Given the description of an element on the screen output the (x, y) to click on. 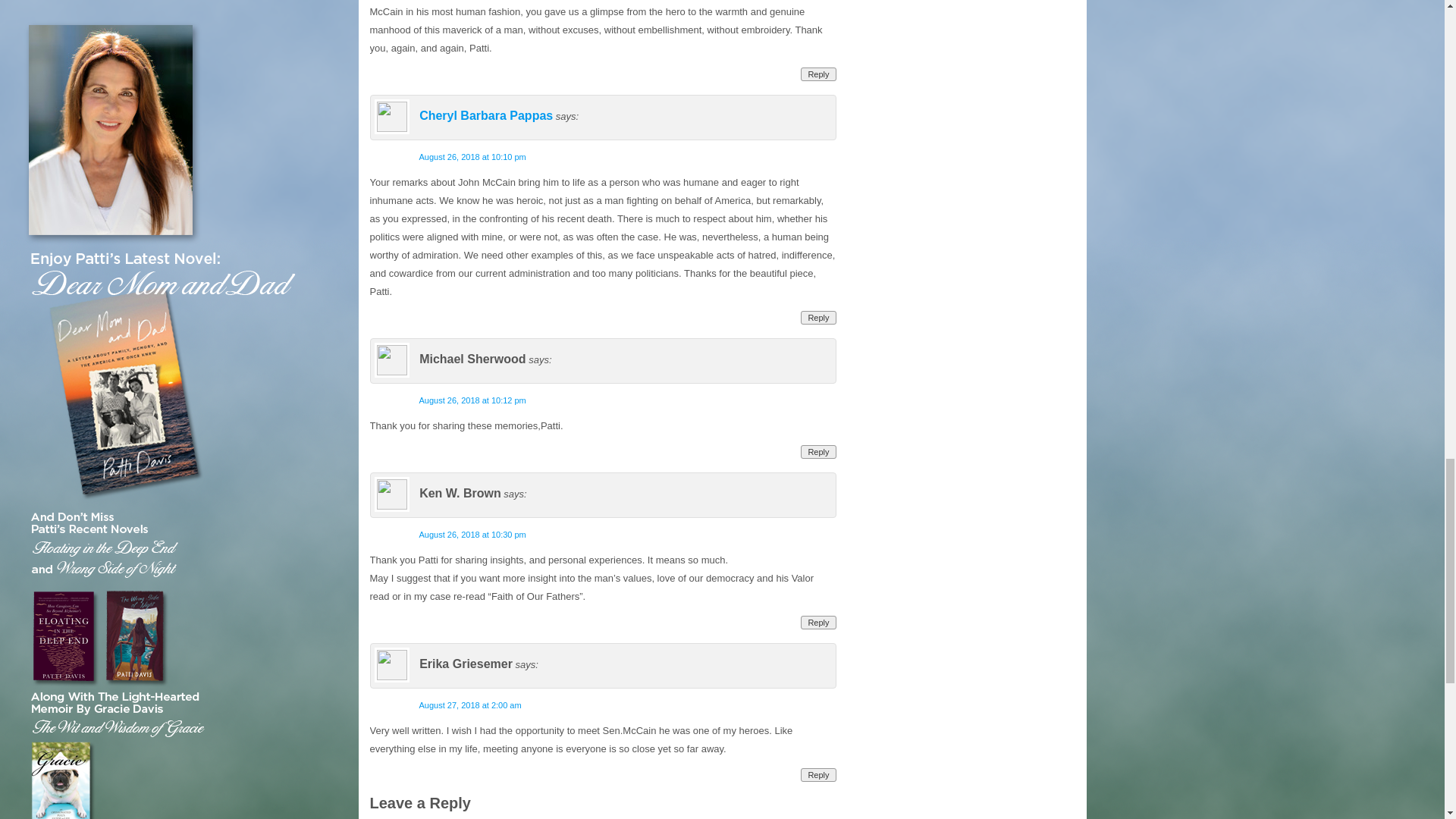
August 26, 2018 at 10:12 pm (472, 399)
Cheryl Barbara Pappas (486, 115)
Reply (817, 775)
August 26, 2018 at 10:30 pm (472, 533)
Reply (817, 74)
Reply (817, 622)
August 26, 2018 at 10:10 pm (472, 156)
Reply (817, 451)
Reply (817, 317)
August 27, 2018 at 2:00 am (470, 705)
